Given the description of an element on the screen output the (x, y) to click on. 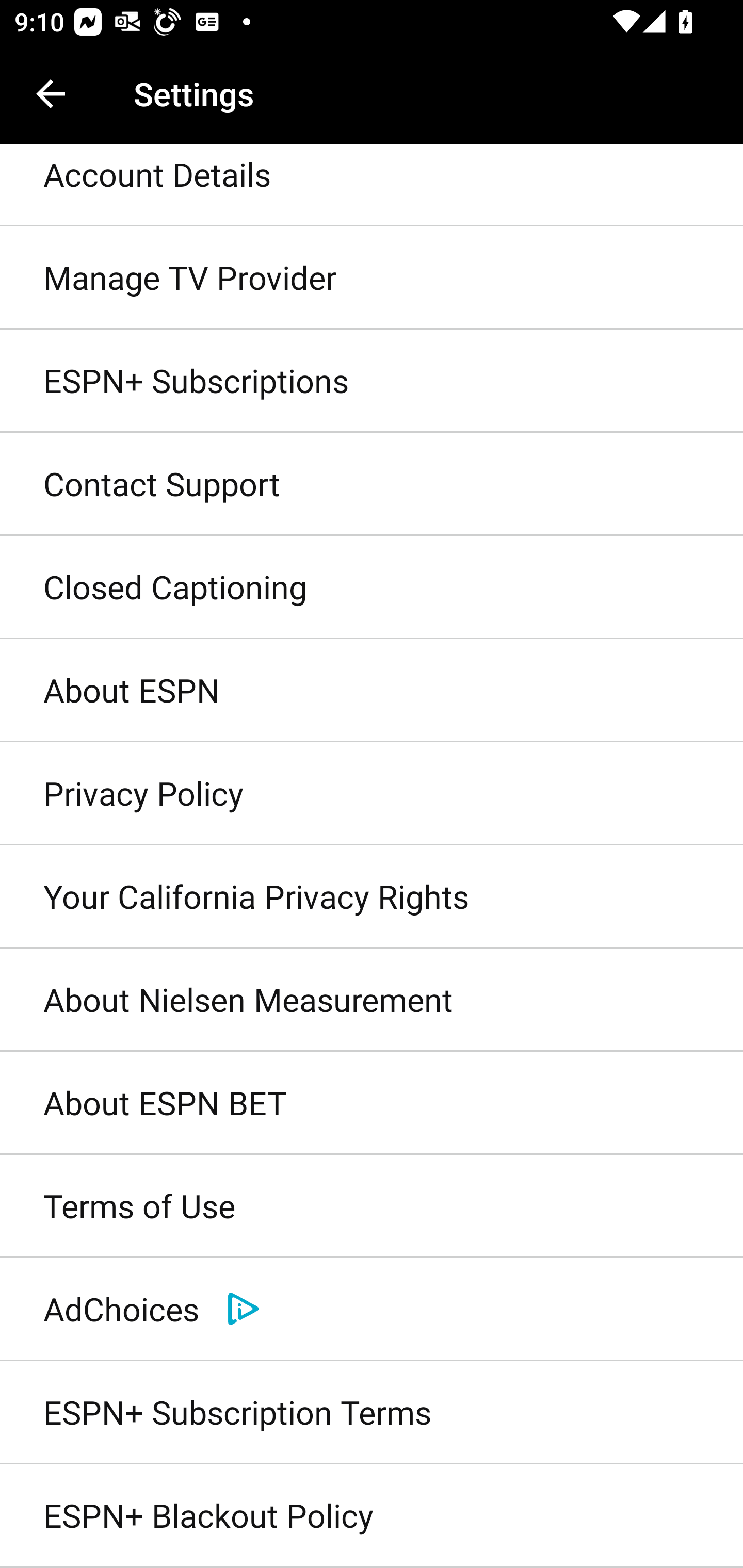
Navigate up (50, 93)
Account Details (371, 185)
Manage TV Provider (371, 277)
ESPN+ Subscriptions (371, 380)
Contact Support (371, 484)
Closed Captioning (371, 587)
About ESPN (371, 691)
Privacy Policy (371, 793)
Your California Privacy Rights (371, 896)
About Nielsen Measurement (371, 1000)
About ESPN BET (371, 1103)
Terms of Use (371, 1207)
AdChoices (371, 1309)
ESPN+ Subscription Terms (371, 1412)
ESPN+ Blackout Policy (371, 1516)
